Given the description of an element on the screen output the (x, y) to click on. 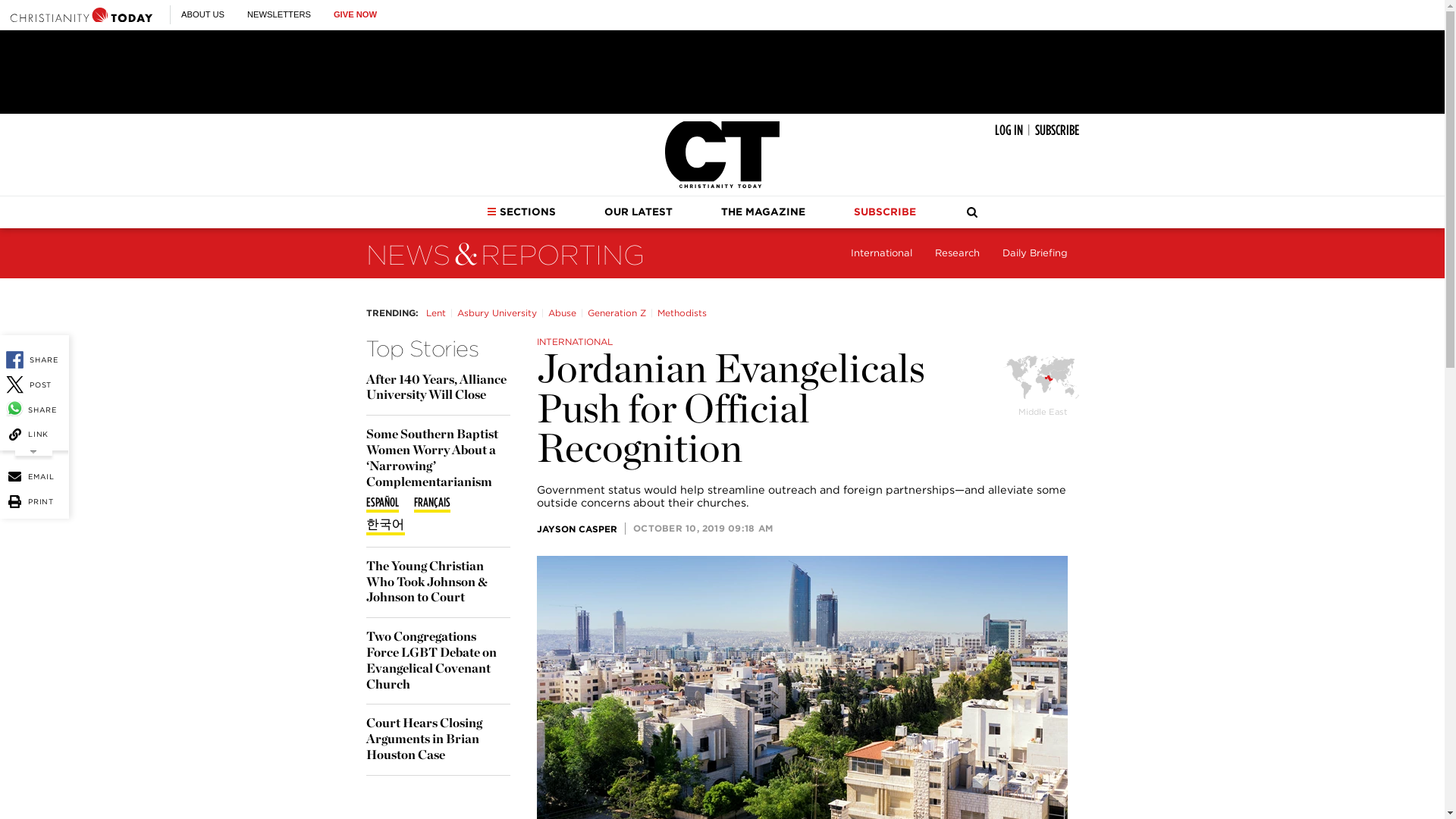
Christianity Today (81, 14)
GIVE NOW (355, 14)
Christianity Today (721, 154)
Sections Dropdown (491, 211)
Spanish (381, 503)
SECTIONS (521, 212)
SUBSCRIBE (1055, 130)
ABOUT US (202, 14)
French (431, 503)
NEWSLETTERS (278, 14)
LOG IN (1008, 130)
3rd party ad content (721, 71)
